Given the description of an element on the screen output the (x, y) to click on. 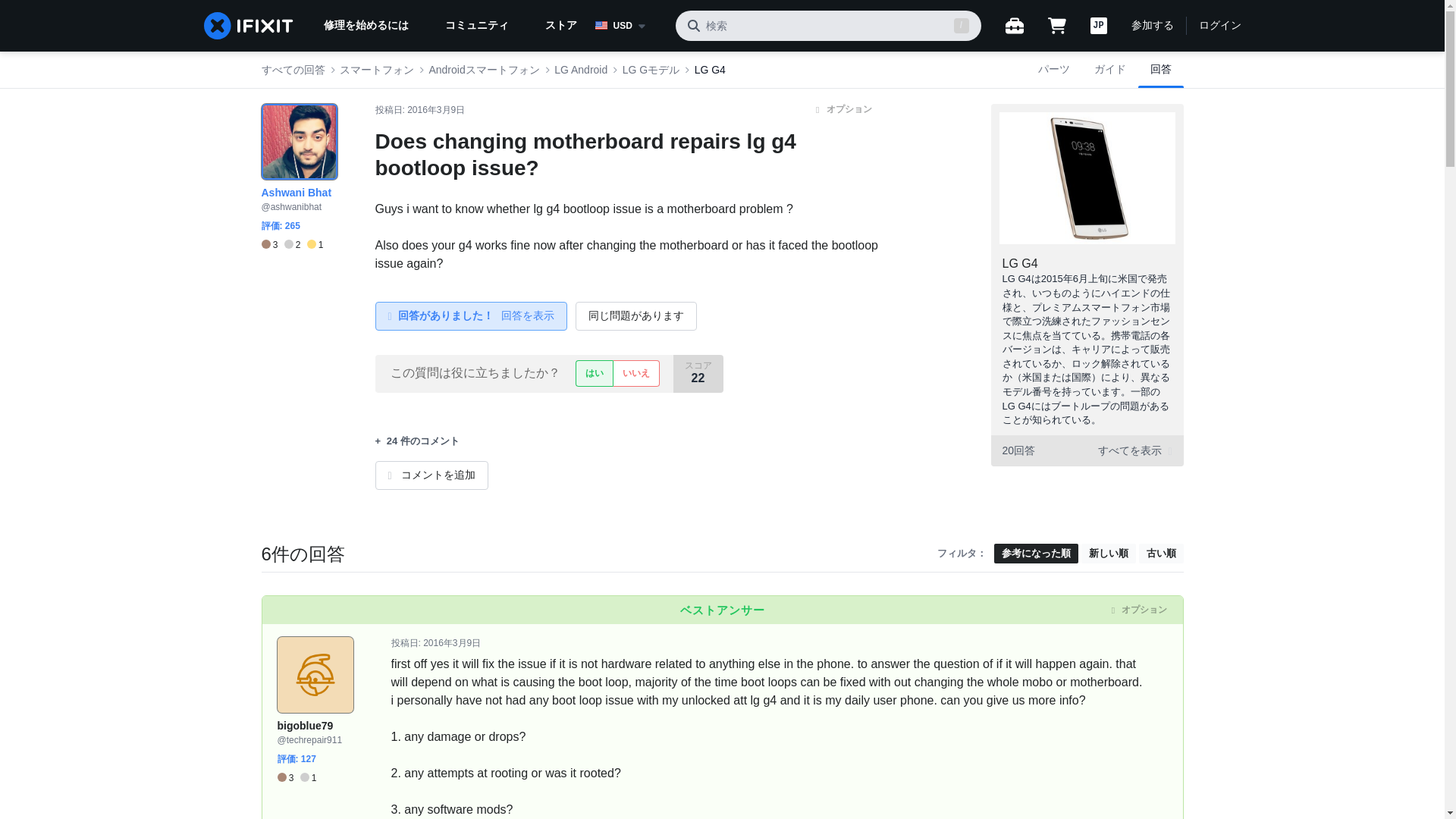
LG G4 (1020, 263)
3 2 1 (291, 245)
Wed, 09 Mar 2016 13:50:59 -0700 (451, 643)
Wed, 09 Mar 2016 11:35:59 -0700 (435, 109)
USD (628, 25)
LG Android (580, 69)
LG G4 (709, 69)
